Given the description of an element on the screen output the (x, y) to click on. 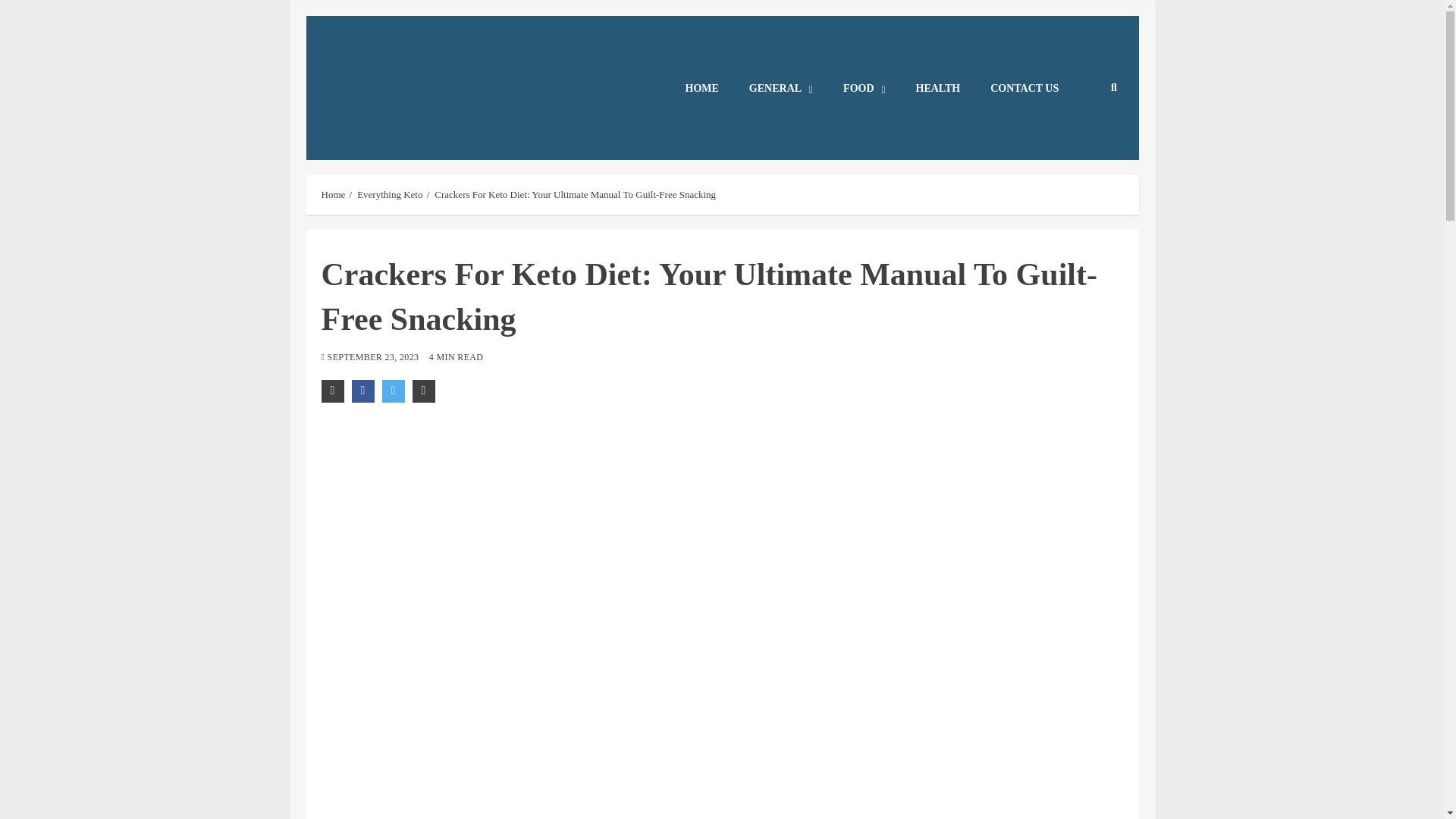
FOOD (863, 88)
CONTACT US (1024, 88)
GENERAL (780, 88)
Home (333, 194)
Everything Keto (389, 194)
HOME (701, 88)
Search (1084, 133)
HEALTH (938, 88)
